Given the description of an element on the screen output the (x, y) to click on. 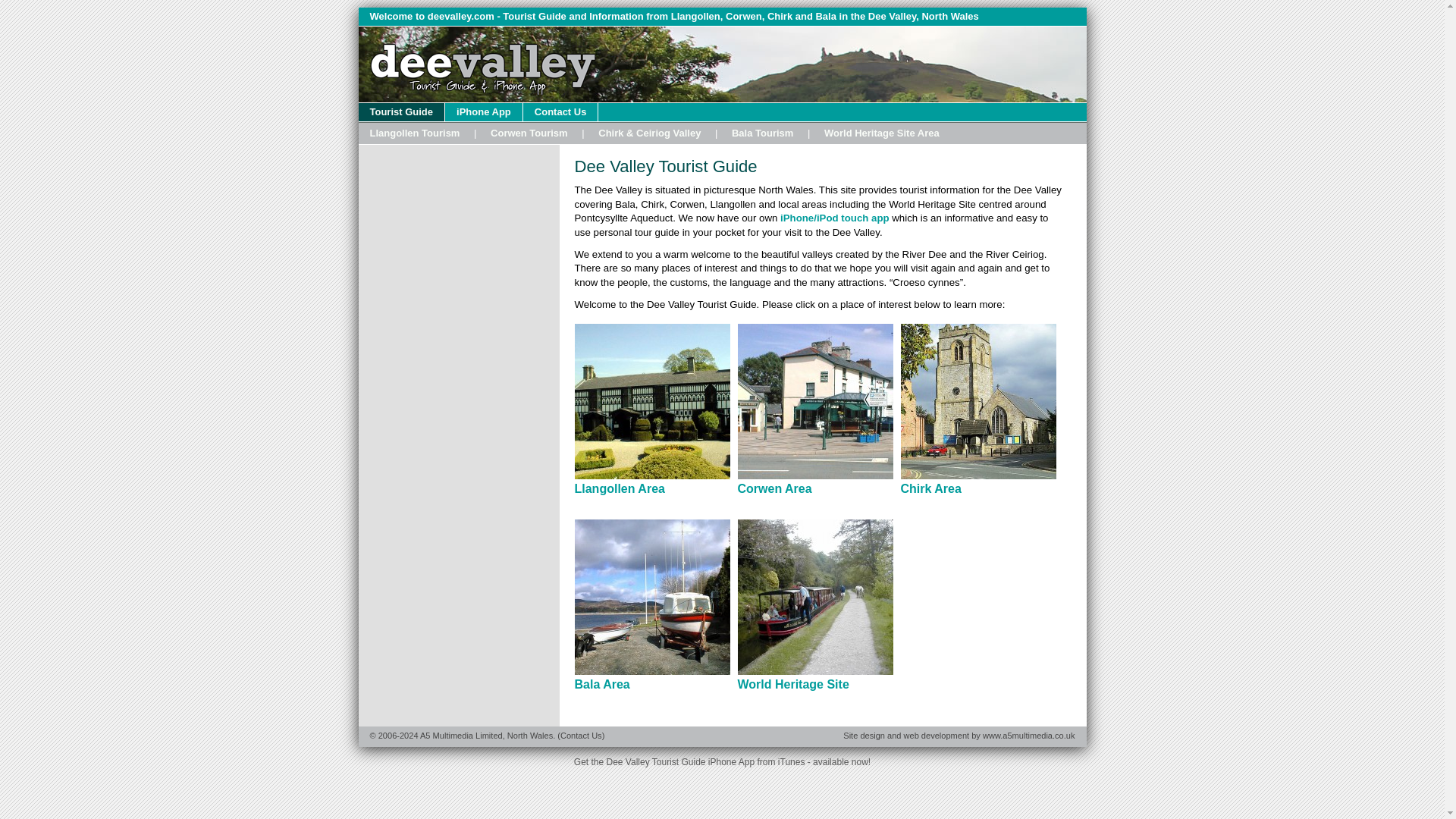
iPhone App (483, 112)
Go to the "Dee Valley Tourist Guide iPhone App" page (483, 112)
Corwen Tourism (529, 132)
Go to Llangollen Area (414, 132)
Go to Chirk Area (648, 132)
Go to the "Dee Valley Tourist and Visitor Guide" page (401, 112)
Contact Us (560, 112)
Read more about "Bala Area" (602, 684)
Tourist Guide (401, 112)
Go to Corwen Area (529, 132)
Llangollen Area (620, 488)
Read more about "Llangollen Area" (620, 488)
Bala Area (602, 684)
Go to the "Contact Us" page (560, 112)
Llangollen Tourism (414, 132)
